Given the description of an element on the screen output the (x, y) to click on. 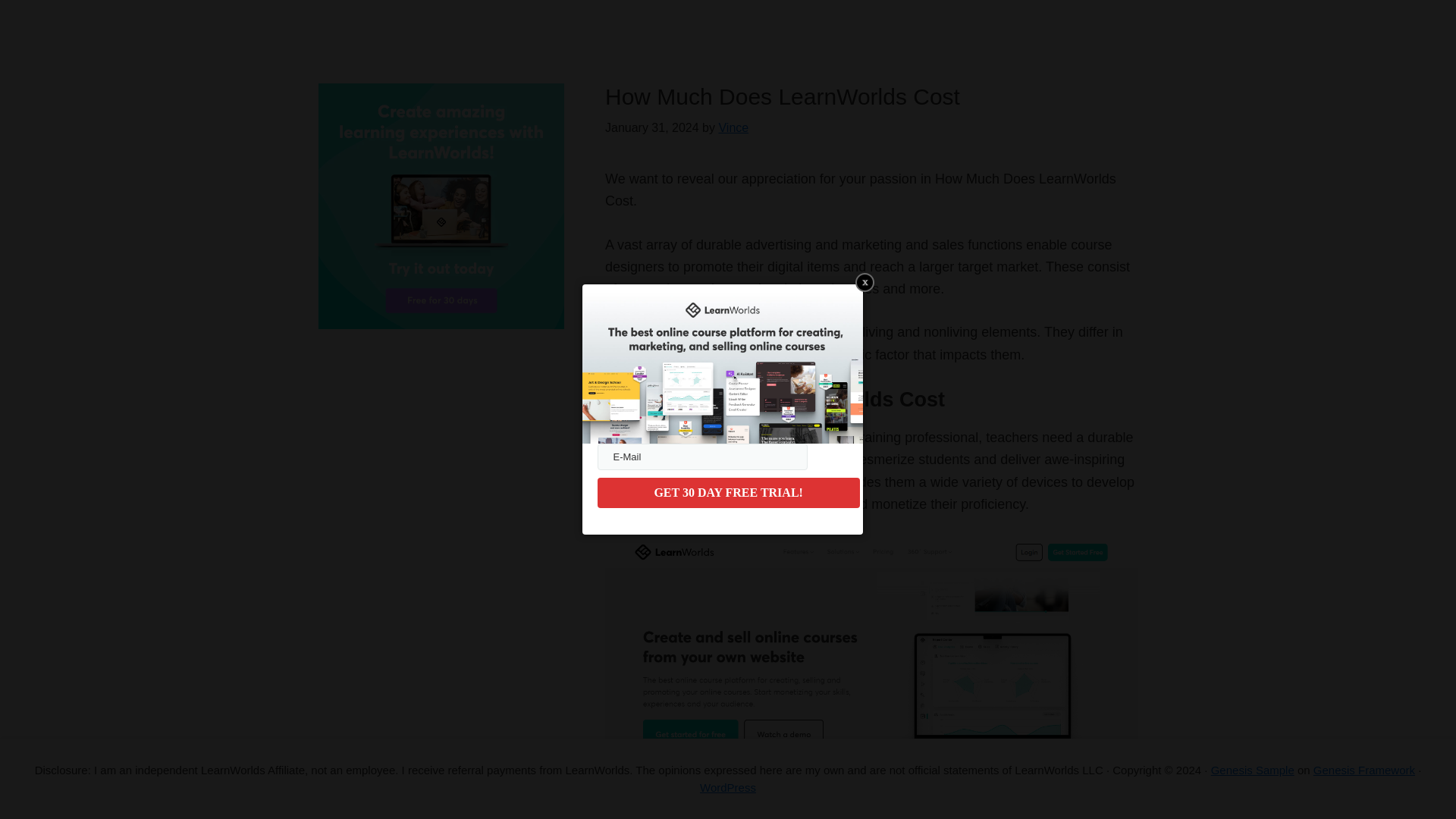
GET 30 DAY FREE TRIAL! (728, 492)
Vince (732, 127)
GET 30 DAY FREE TRIAL! (728, 492)
WordPress (727, 787)
Genesis Sample (1252, 769)
Genesis Framework (1364, 769)
